Given the description of an element on the screen output the (x, y) to click on. 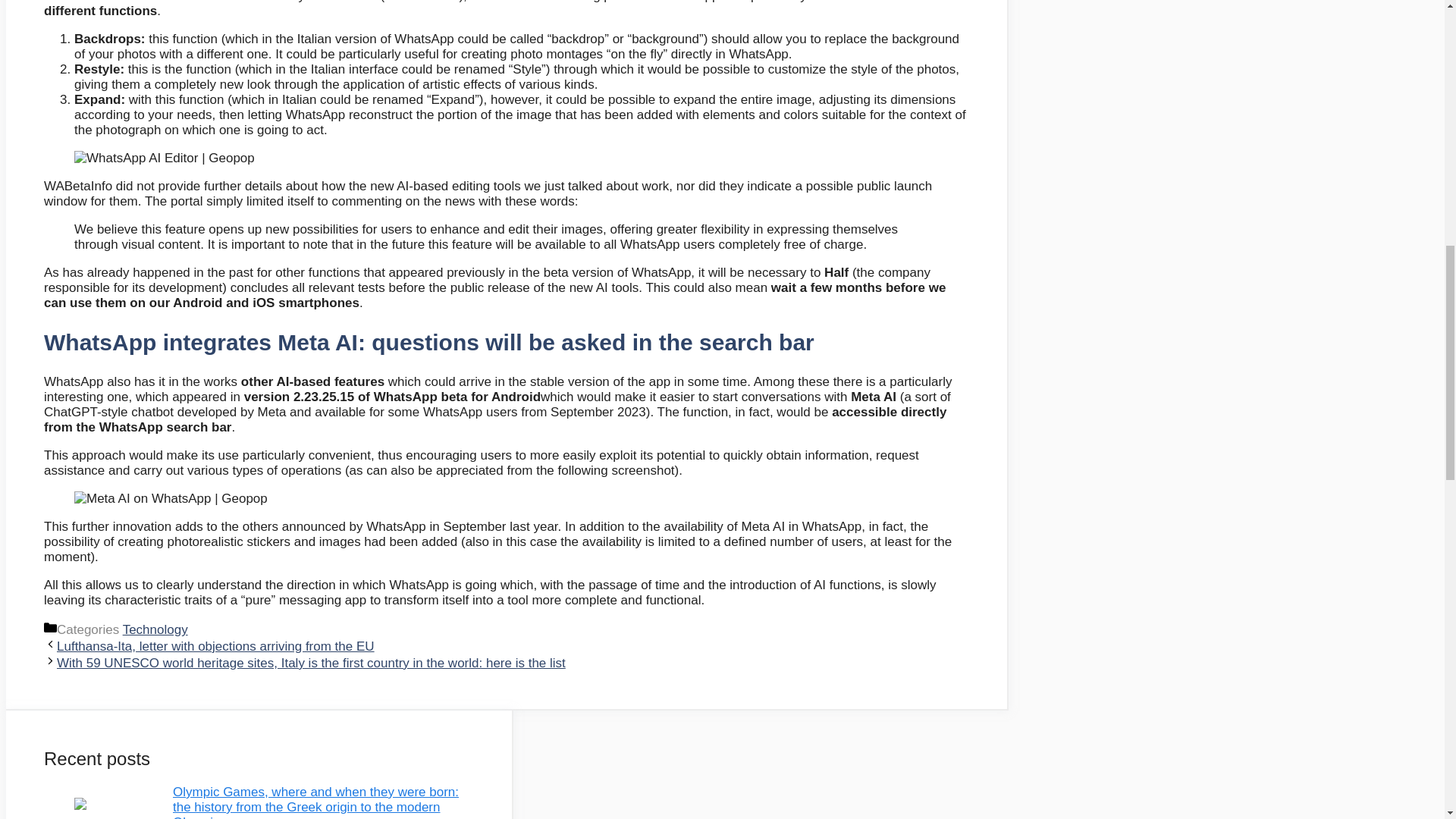
Technology (154, 629)
Lufthansa-Ita, letter with objections arriving from the EU (215, 646)
